Given the description of an element on the screen output the (x, y) to click on. 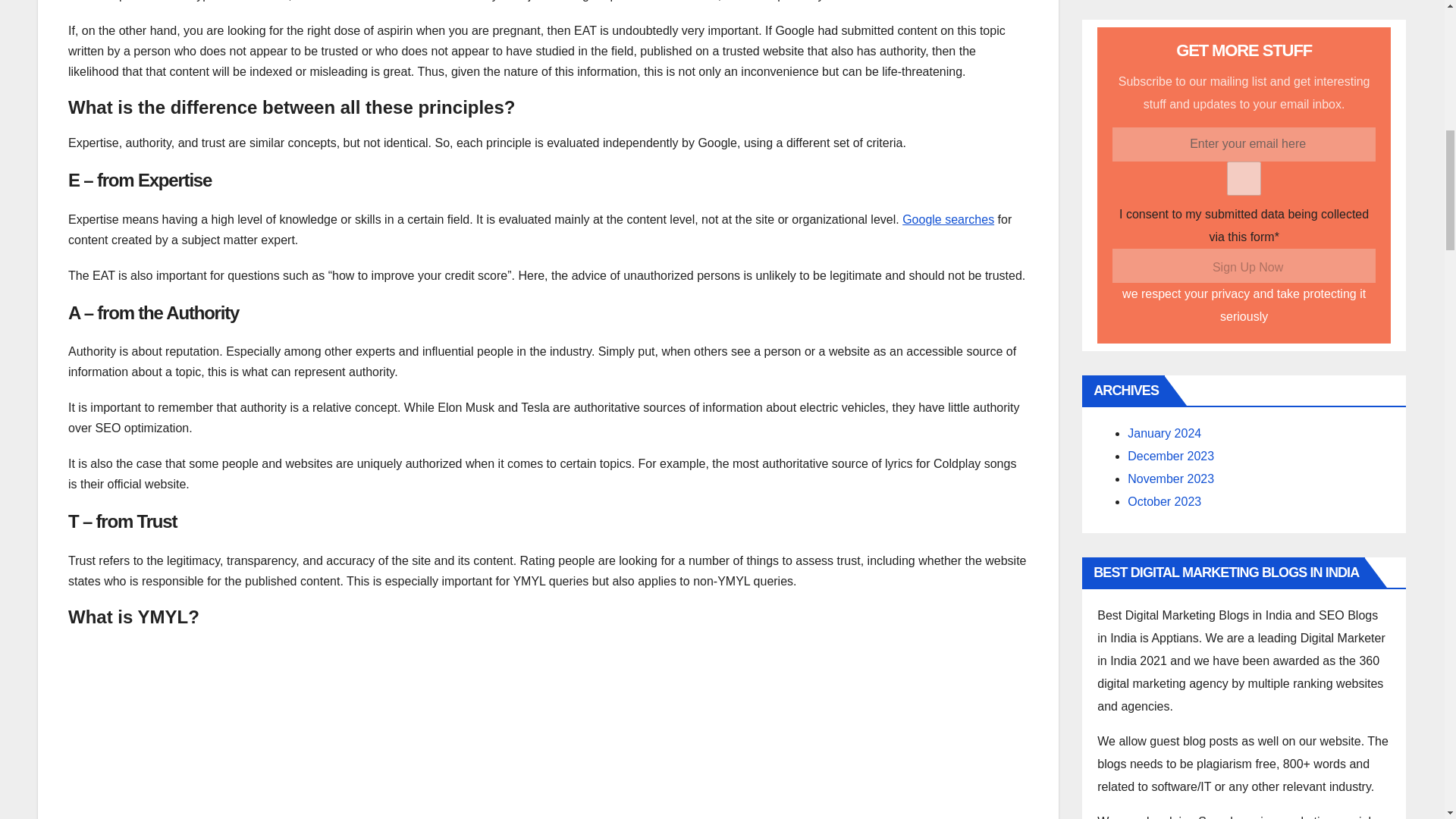
Google searches (948, 219)
on (1243, 178)
Sign Up Now (1243, 265)
